Given the description of an element on the screen output the (x, y) to click on. 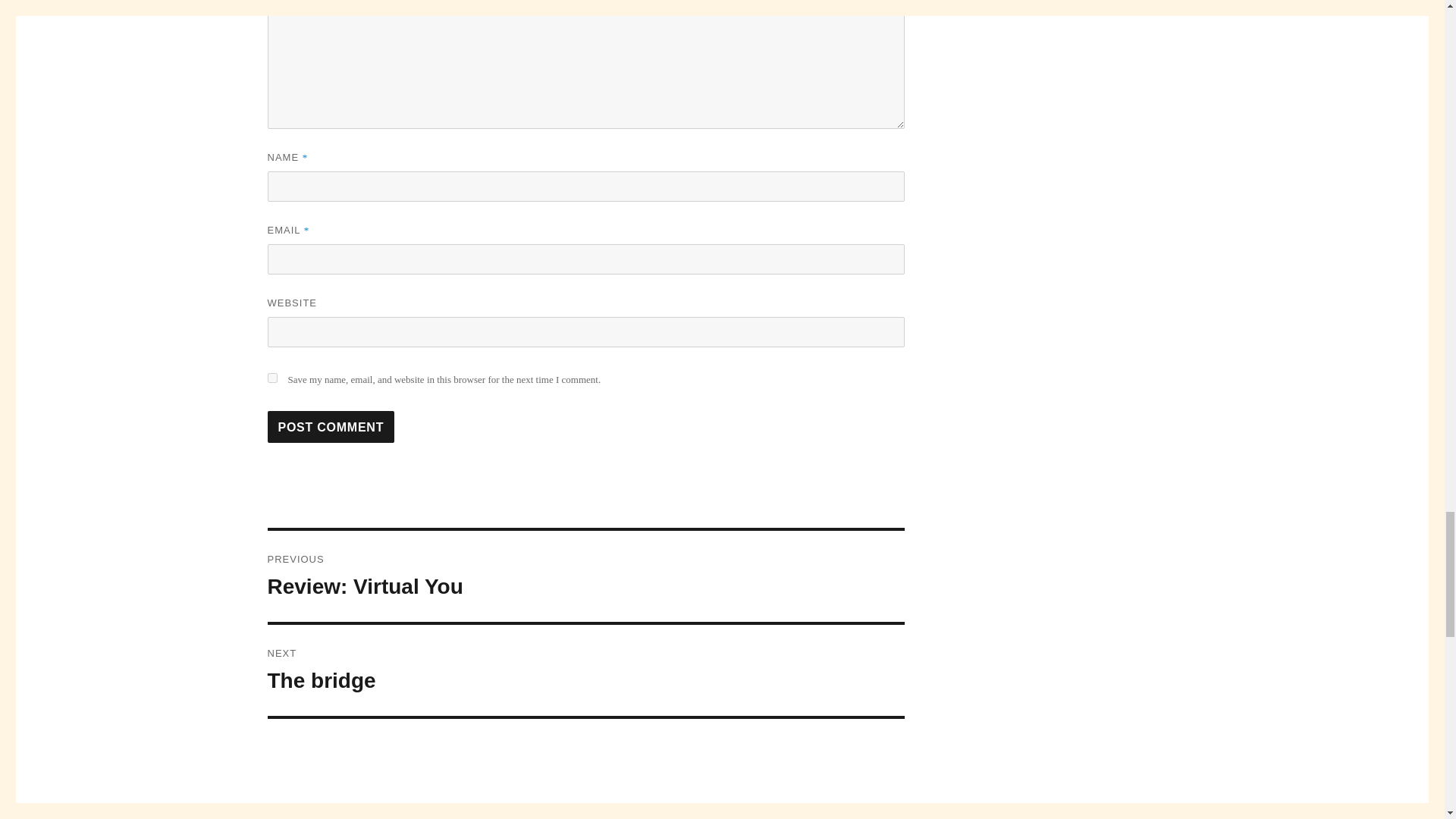
Post Comment (330, 427)
yes (271, 378)
